Given the description of an element on the screen output the (x, y) to click on. 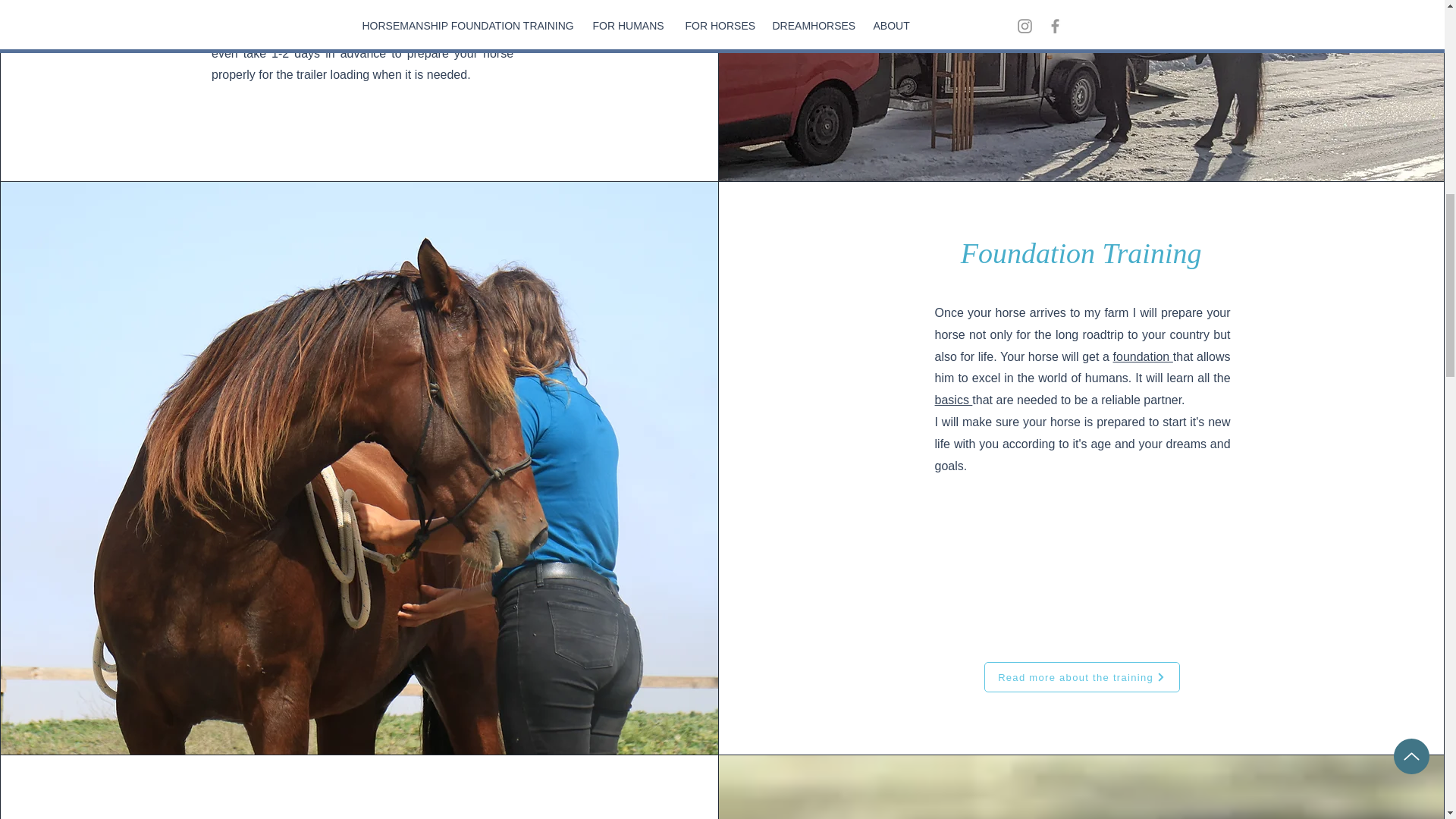
foundation (1143, 356)
Read more about the training (1081, 676)
basics (953, 399)
